Given the description of an element on the screen output the (x, y) to click on. 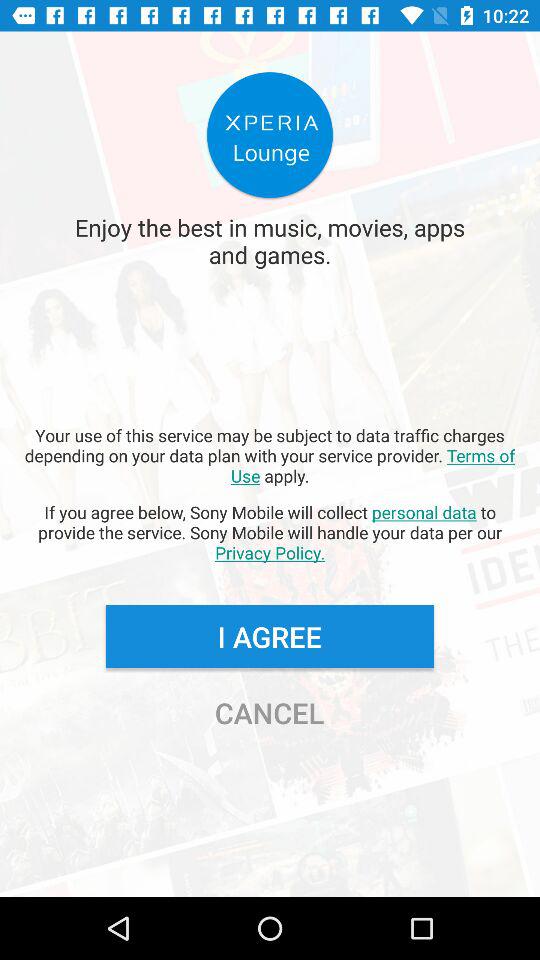
open the app below enjoy the best item (270, 455)
